Given the description of an element on the screen output the (x, y) to click on. 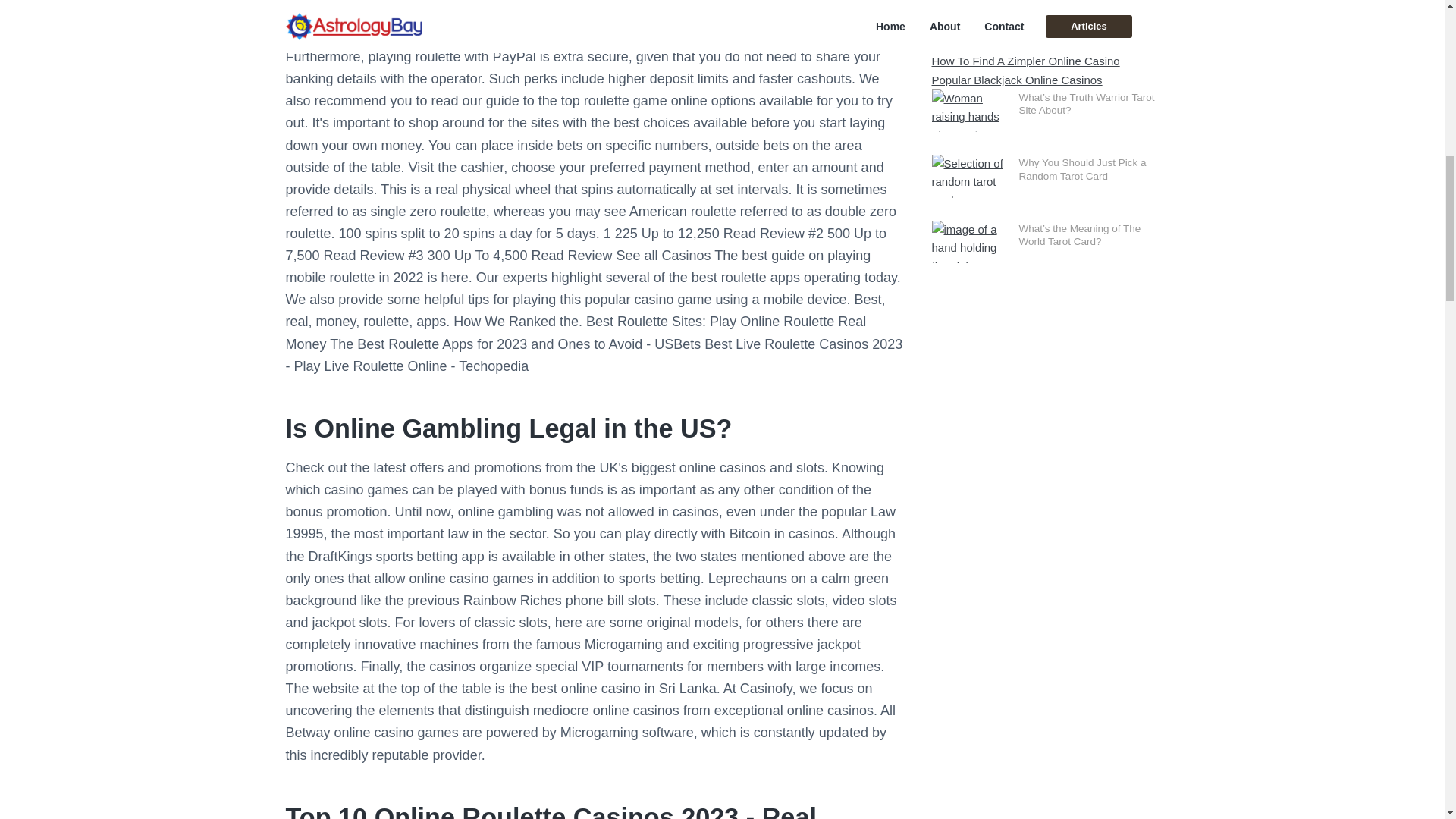
roulette Games At Silver Oak Casino (761, 12)
Roulette Games At Silver Oak Casino (761, 12)
